Given the description of an element on the screen output the (x, y) to click on. 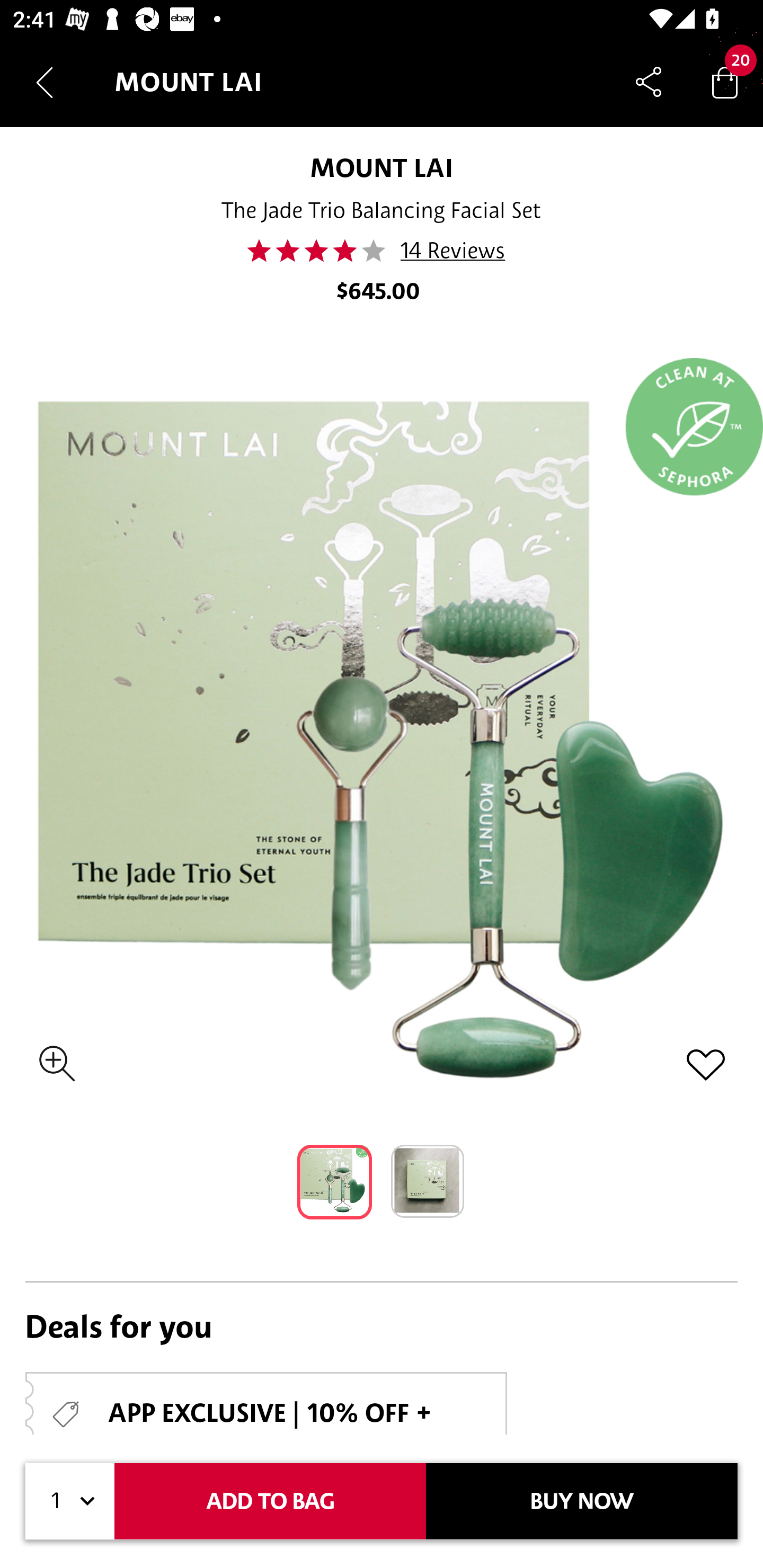
Navigate up (44, 82)
Share (648, 81)
Bag (724, 81)
MOUNT LAI (381, 167)
39.0 14 Reviews (381, 250)
1 (69, 1500)
ADD TO BAG (269, 1500)
BUY NOW (581, 1500)
